Given the description of an element on the screen output the (x, y) to click on. 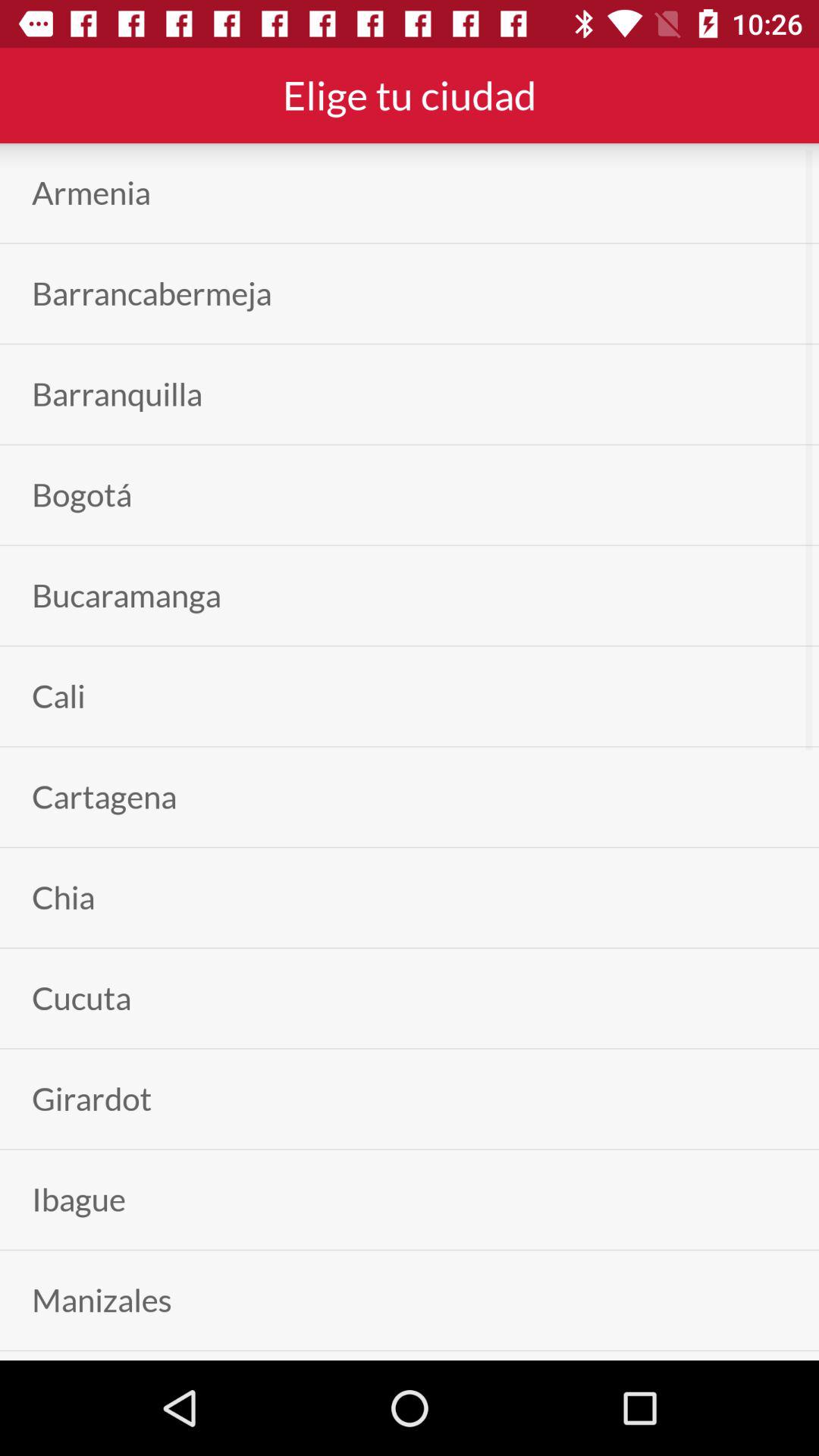
select the app above cali icon (126, 595)
